Given the description of an element on the screen output the (x, y) to click on. 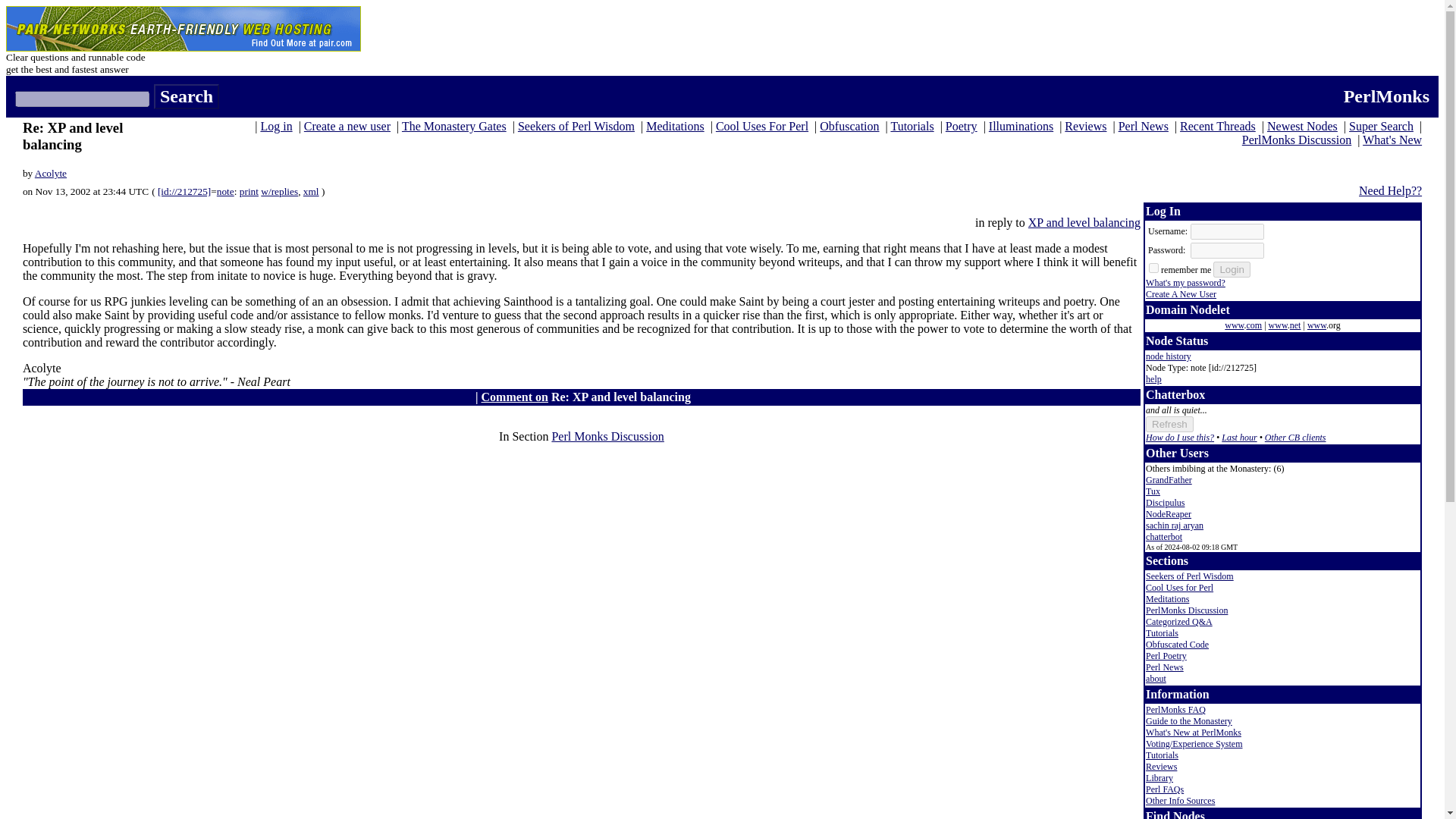
Need Help?? (1390, 190)
Perl News (1143, 125)
Refresh (1169, 424)
Poetry (960, 125)
www (1277, 325)
note (225, 191)
xml (310, 191)
Obfuscation (849, 125)
The Monastery Gates (453, 125)
GrandFather's home node. Level 26. Member of: janitors (1168, 480)
www (1316, 325)
Illuminations (1020, 125)
Search (186, 96)
Reviews (1085, 125)
Login (1231, 269)
